Given the description of an element on the screen output the (x, y) to click on. 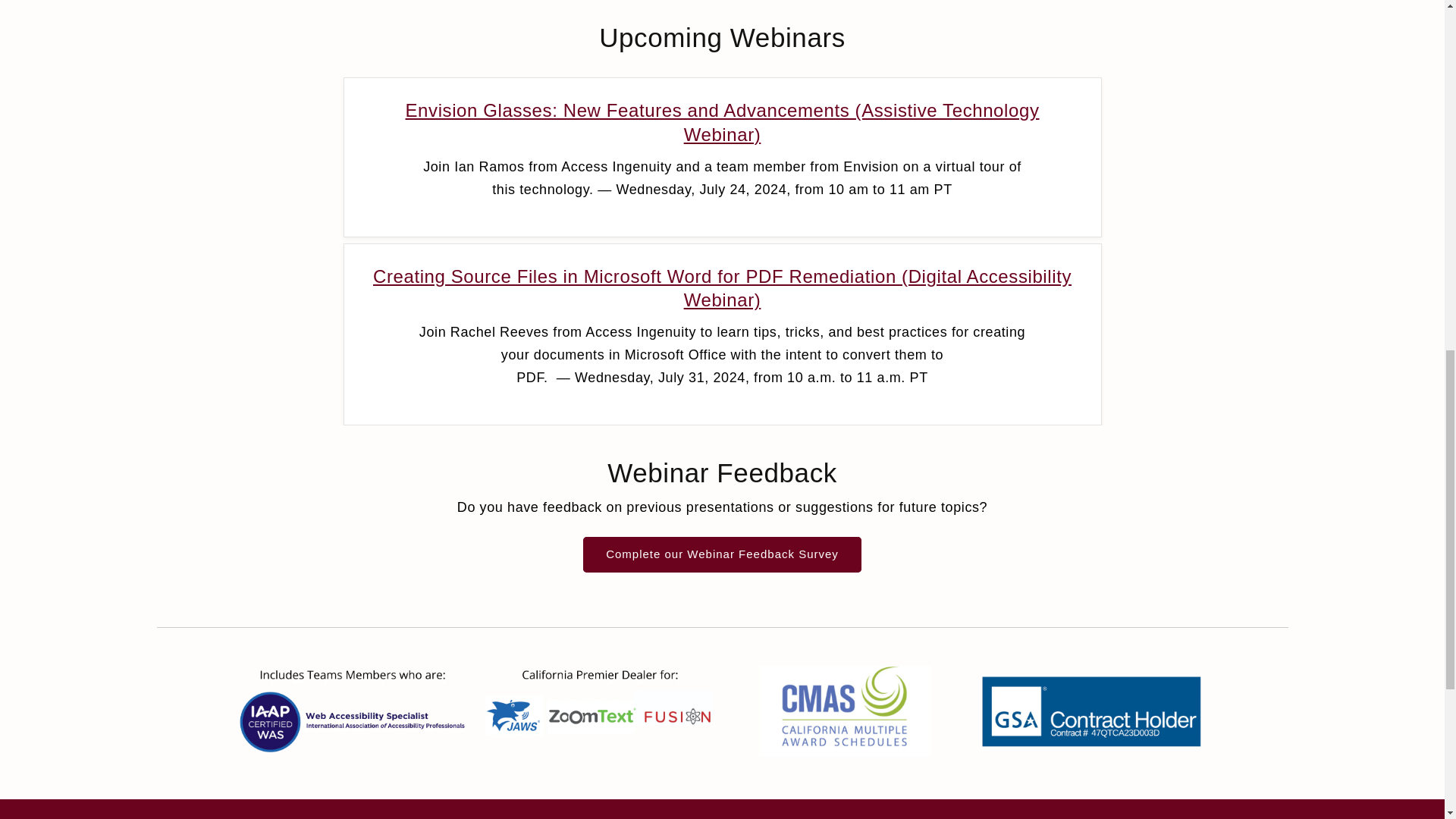
Complete our Webinar Feedback Survey (722, 554)
